Given the description of an element on the screen output the (x, y) to click on. 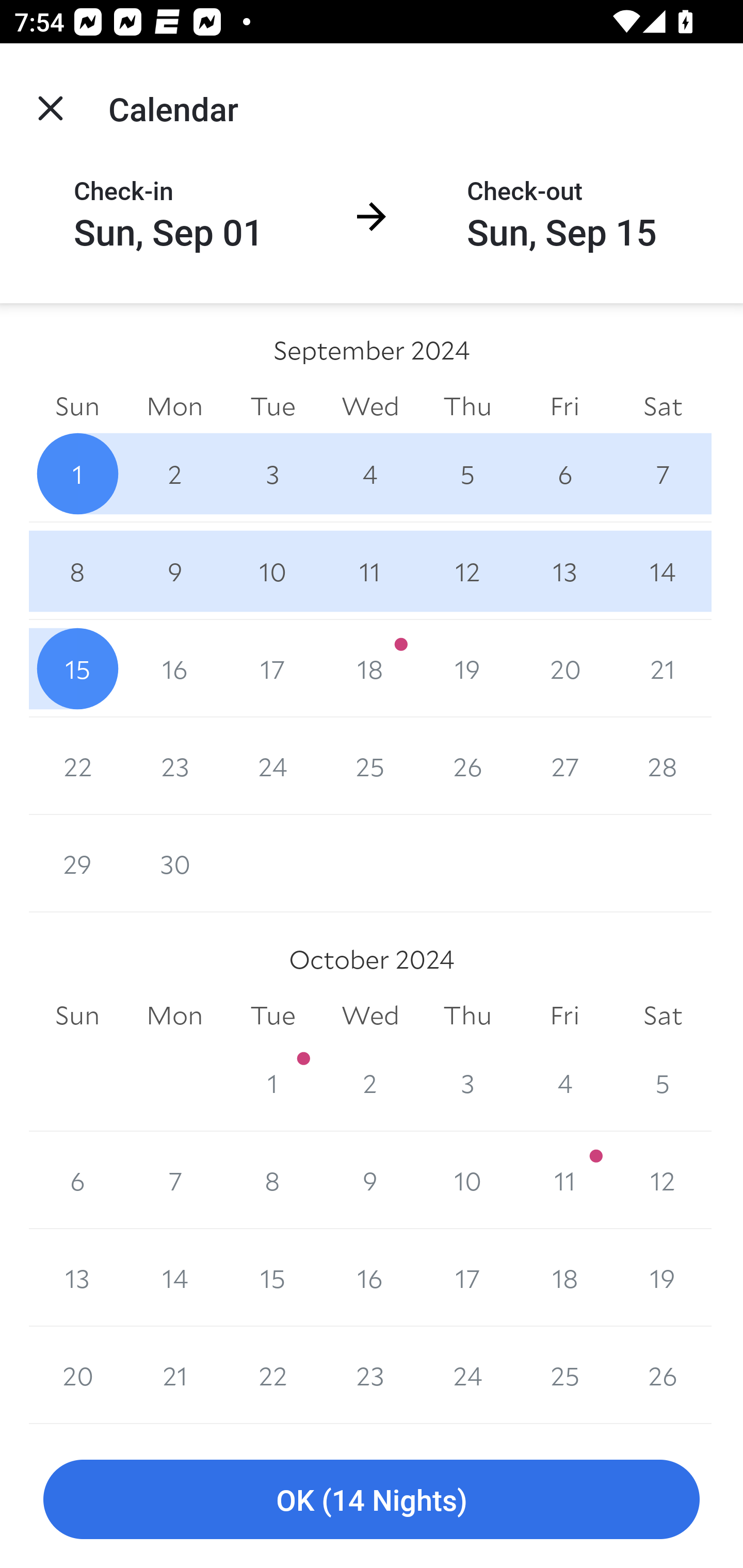
Sun (77, 405)
Mon (174, 405)
Tue (272, 405)
Wed (370, 405)
Thu (467, 405)
Fri (564, 405)
Sat (662, 405)
1 1 September 2024 (77, 473)
2 2 September 2024 (174, 473)
3 3 September 2024 (272, 473)
4 4 September 2024 (370, 473)
5 5 September 2024 (467, 473)
6 6 September 2024 (564, 473)
7 7 September 2024 (662, 473)
8 8 September 2024 (77, 570)
9 9 September 2024 (174, 570)
10 10 September 2024 (272, 570)
11 11 September 2024 (370, 570)
12 12 September 2024 (467, 570)
13 13 September 2024 (564, 570)
14 14 September 2024 (662, 570)
15 15 September 2024 (77, 668)
16 16 September 2024 (174, 668)
17 17 September 2024 (272, 668)
18 18 September 2024 (370, 668)
19 19 September 2024 (467, 668)
20 20 September 2024 (564, 668)
21 21 September 2024 (662, 668)
22 22 September 2024 (77, 766)
23 23 September 2024 (174, 766)
24 24 September 2024 (272, 766)
25 25 September 2024 (370, 766)
26 26 September 2024 (467, 766)
27 27 September 2024 (564, 766)
28 28 September 2024 (662, 766)
29 29 September 2024 (77, 863)
30 30 September 2024 (174, 863)
Sun (77, 1015)
Mon (174, 1015)
Tue (272, 1015)
Wed (370, 1015)
Thu (467, 1015)
Fri (564, 1015)
Sat (662, 1015)
1 1 October 2024 (272, 1083)
2 2 October 2024 (370, 1083)
3 3 October 2024 (467, 1083)
4 4 October 2024 (564, 1083)
5 5 October 2024 (662, 1083)
